Given the description of an element on the screen output the (x, y) to click on. 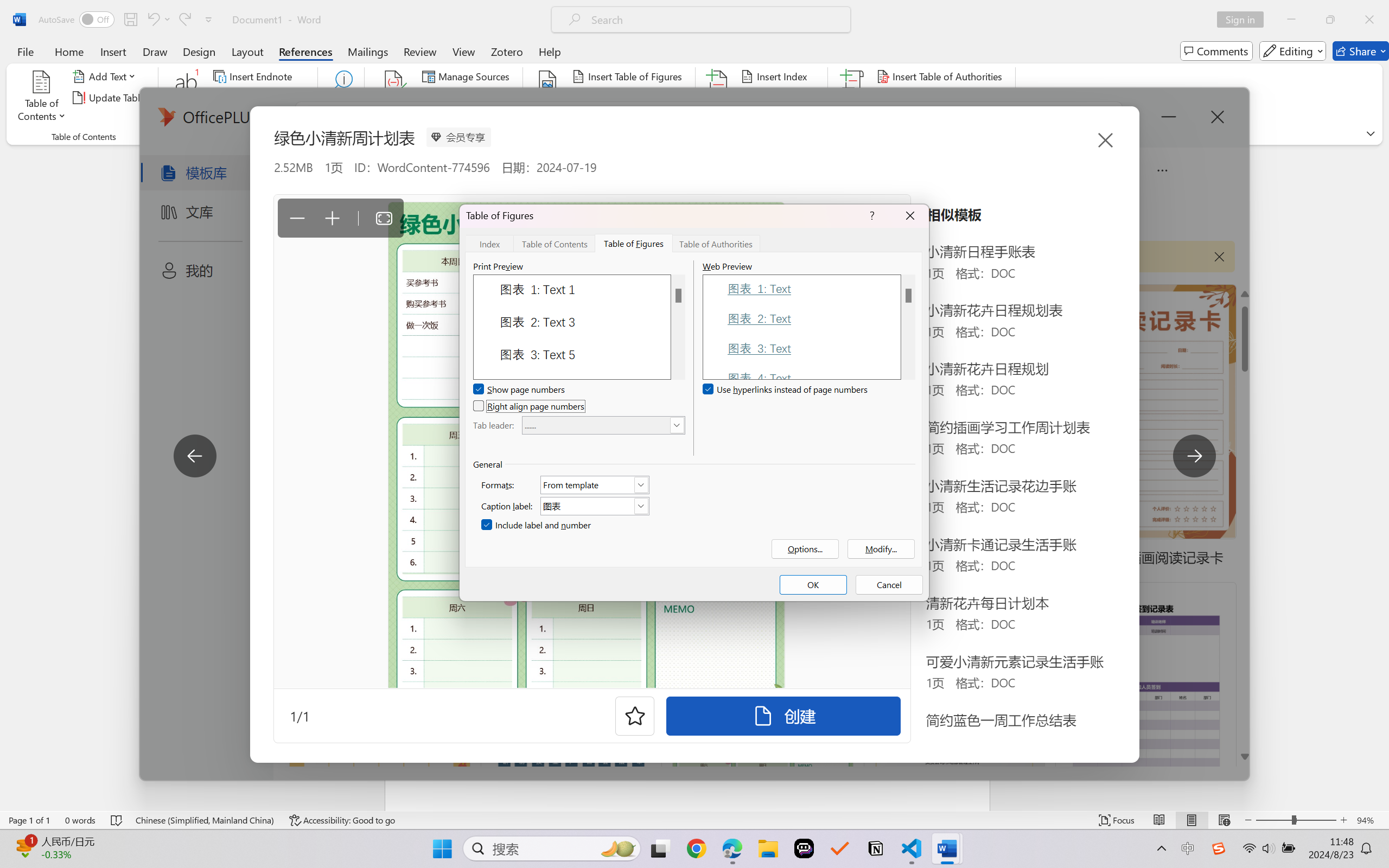
Mark Citation... (852, 97)
Use hyperlinks instead of page numbers (785, 389)
Cross-reference... (615, 118)
Table of Contents (42, 97)
Manage Sources... (467, 75)
Include label and number (536, 525)
Language Chinese (Simplified, Mainland China) (205, 819)
